Given the description of an element on the screen output the (x, y) to click on. 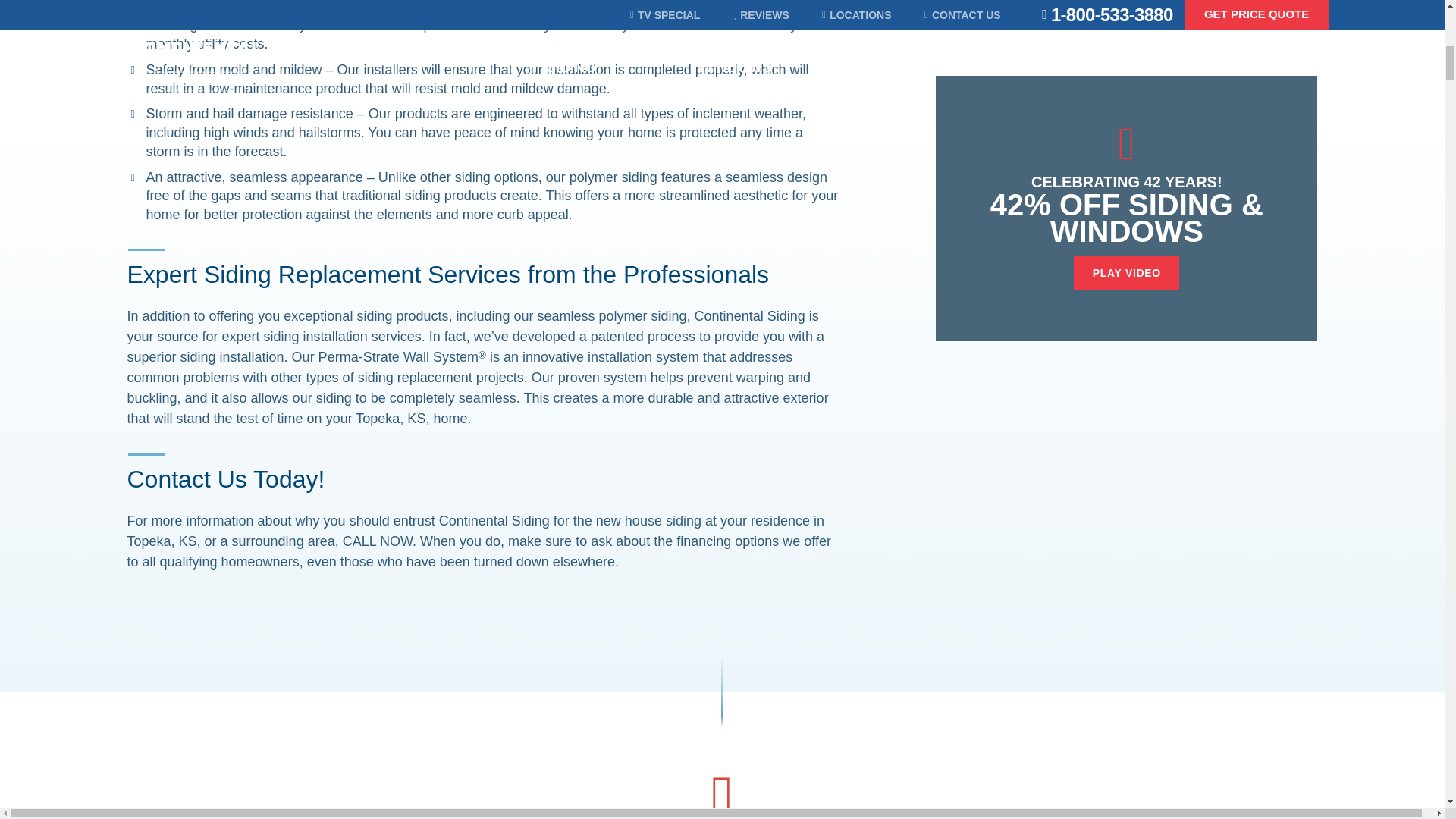
Get Price Quote (1259, 15)
1 (321, 40)
